Given the description of an element on the screen output the (x, y) to click on. 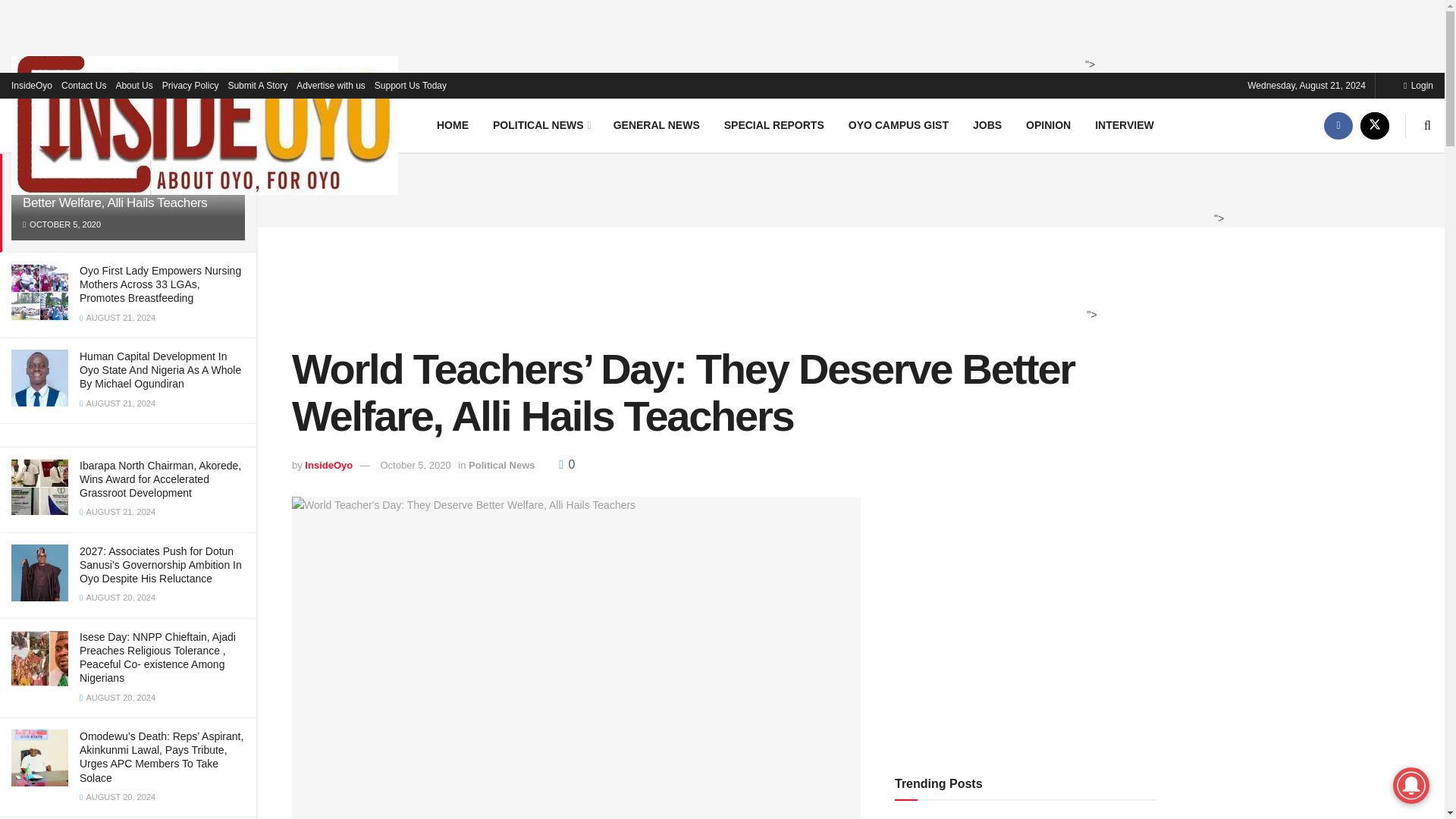
Contact Us (83, 85)
InsideOyo (31, 85)
Advertisement (718, 284)
Privacy Policy (190, 85)
Submit A Story (256, 85)
Login (1417, 85)
POLITICAL NEWS (540, 125)
Advertise with us (331, 85)
